Given the description of an element on the screen output the (x, y) to click on. 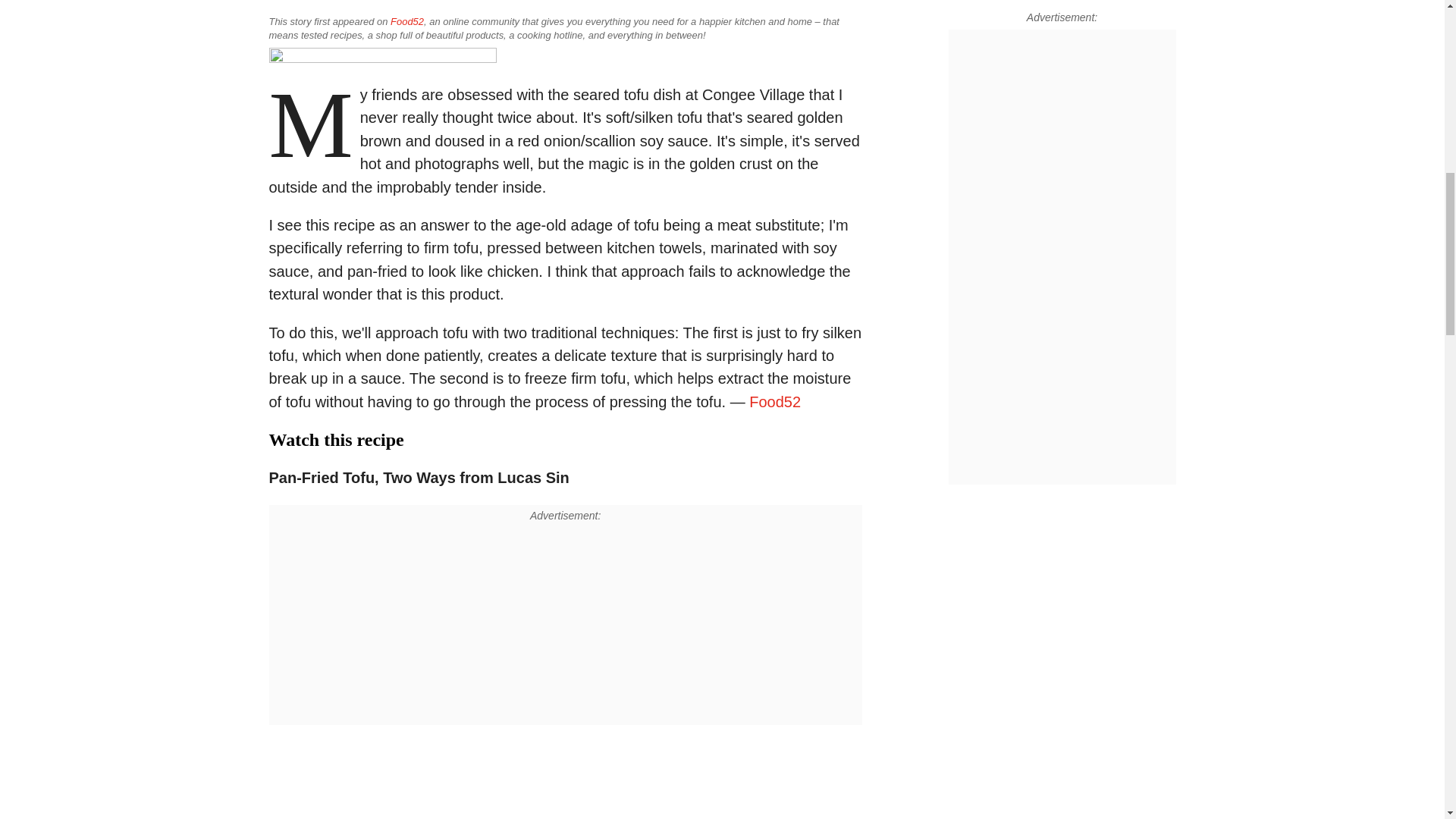
YouTube video player (480, 779)
